Given the description of an element on the screen output the (x, y) to click on. 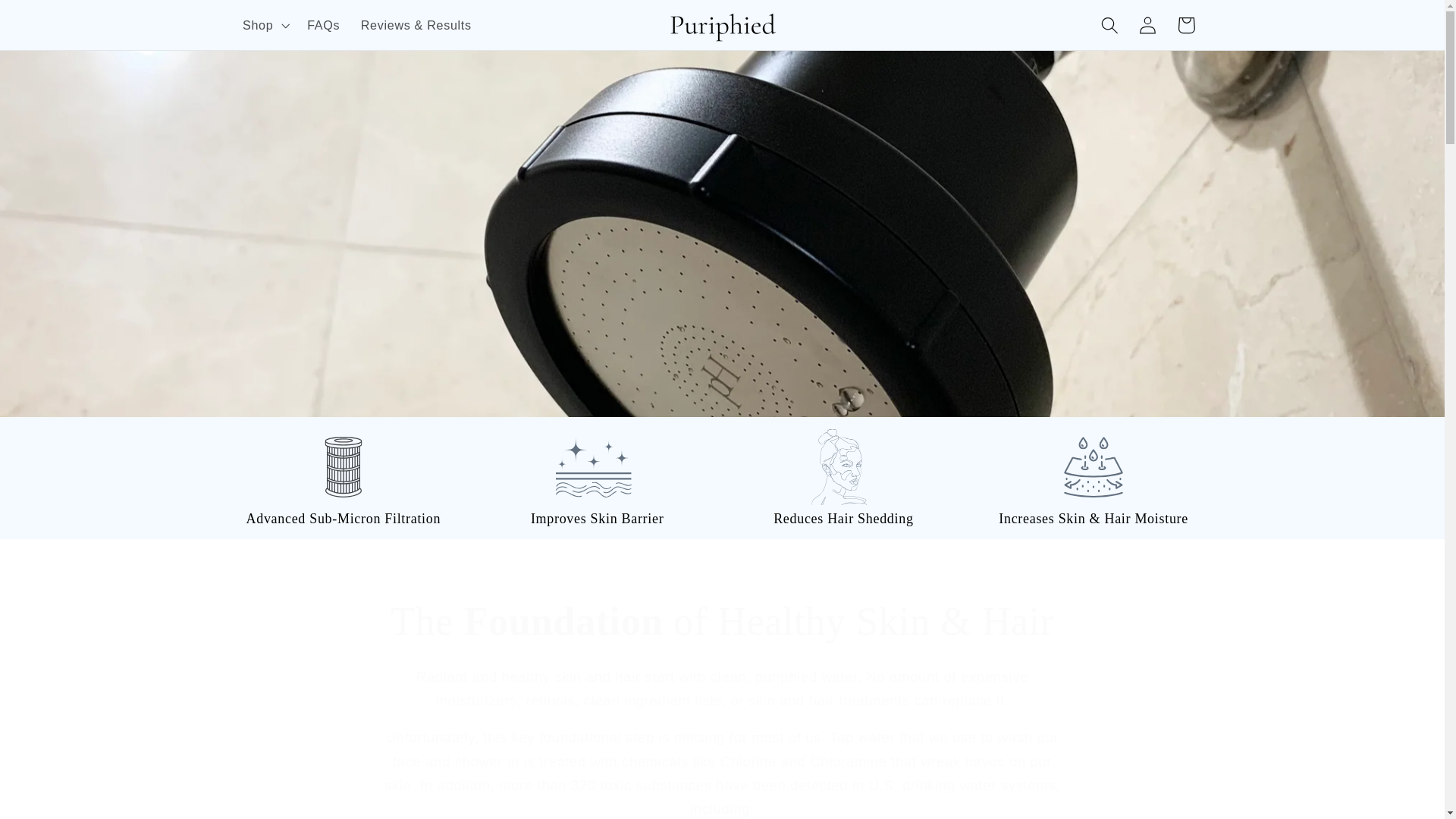
FAQs (323, 24)
Cart (1186, 25)
Skip to content (52, 20)
Shop all (722, 335)
Log in (1147, 25)
